Given the description of an element on the screen output the (x, y) to click on. 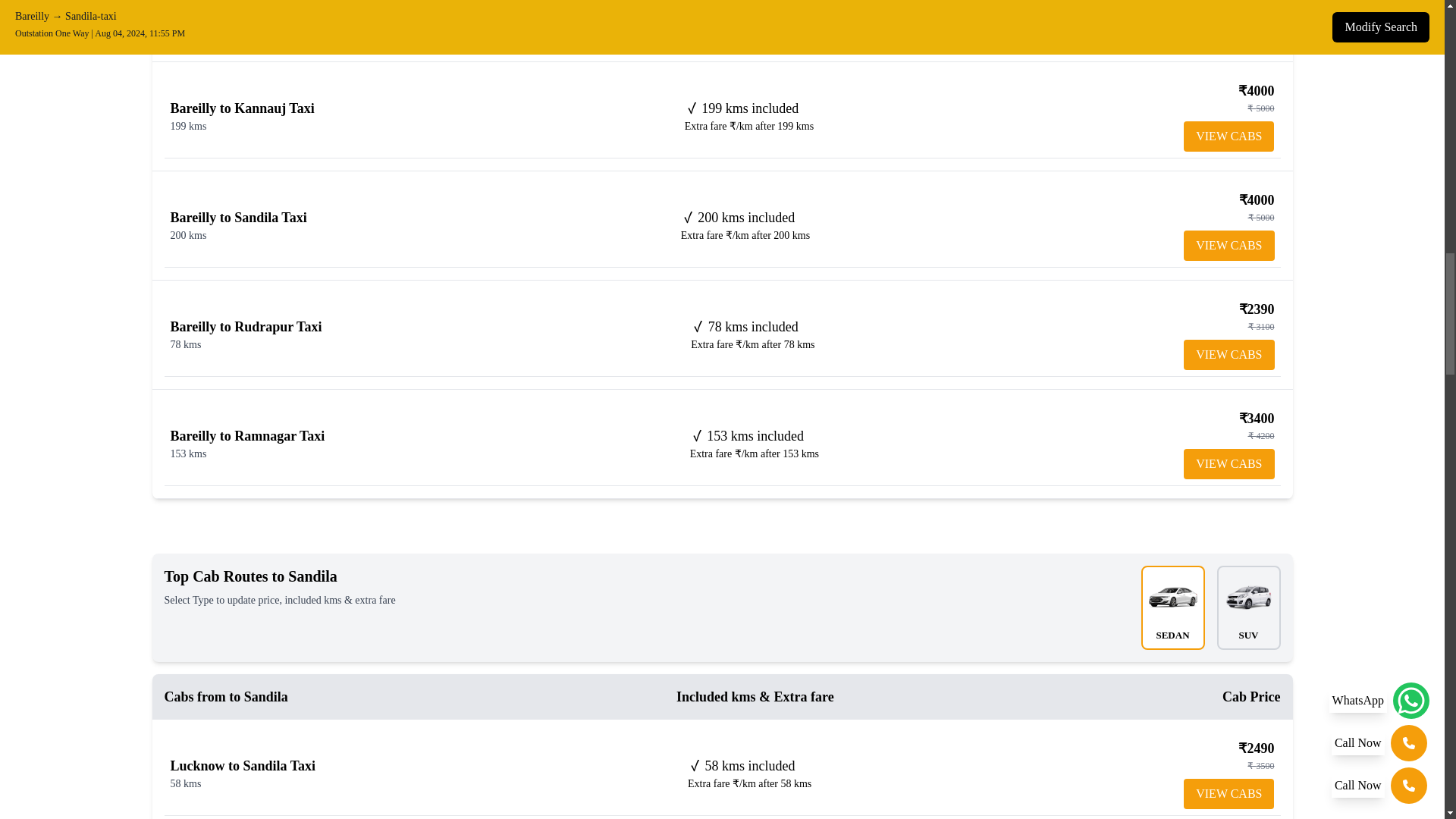
Lucknow to Sandila Taxi (242, 765)
VIEW CABS (1228, 245)
Bareilly to Rudrapur Taxi (245, 325)
VIEW CABS (1228, 463)
VIEW CABS (1228, 793)
Bareilly to Munsiyari Taxi (246, 2)
VIEW CABS (1228, 136)
VIEW CABS (1228, 27)
VIEW CABS (1228, 354)
Bareilly to Kannauj Taxi (242, 107)
Bareilly to Ramnagar Taxi (247, 435)
Bareilly to Sandila Taxi (237, 216)
